Given the description of an element on the screen output the (x, y) to click on. 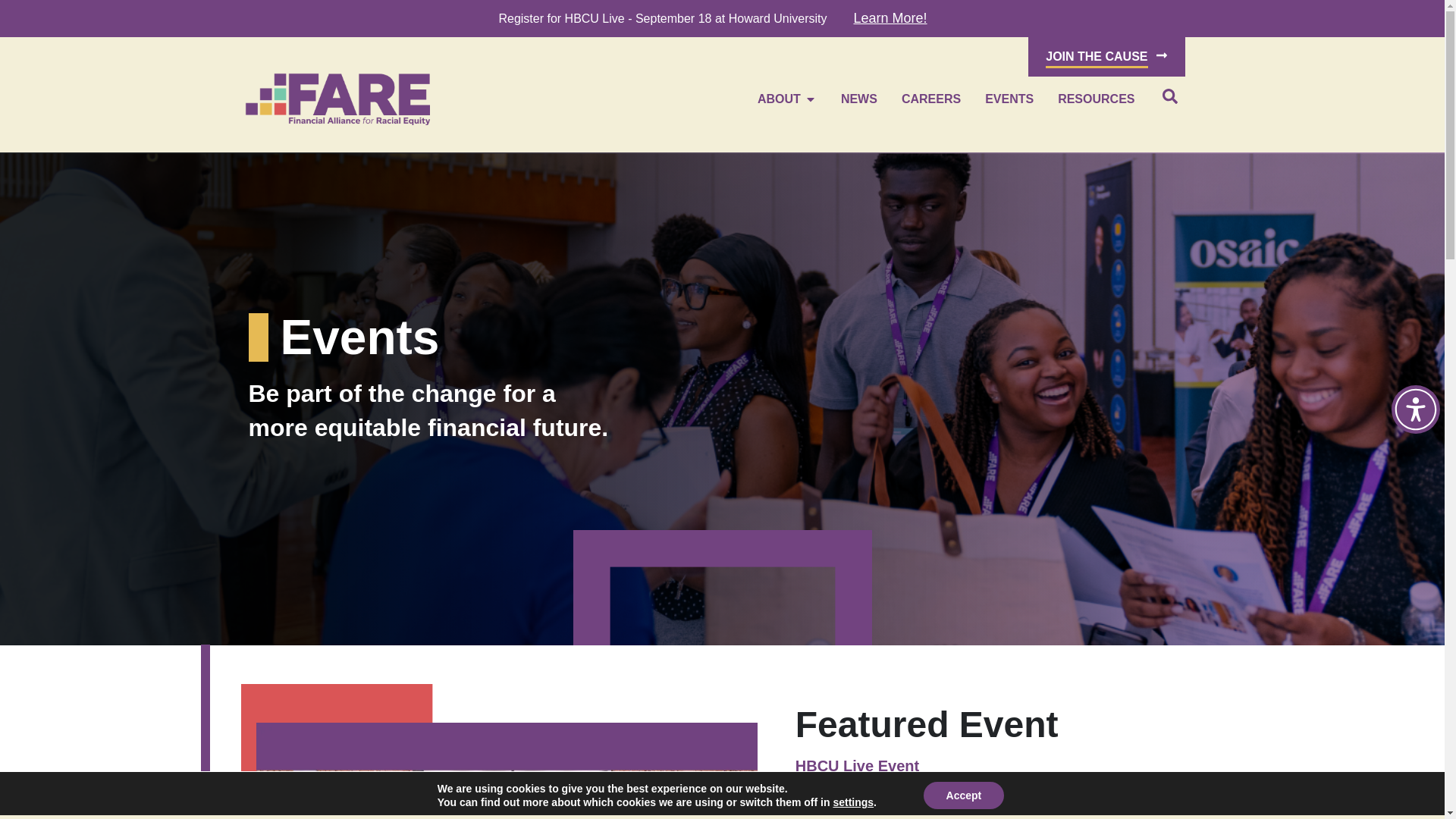
ABOUT (778, 99)
Learn More! (889, 17)
RESOURCES (1096, 99)
HBCU Live Event (856, 765)
NEWS (859, 99)
CAREERS (930, 99)
EVENTS (1009, 99)
Accessibility Menu (1415, 409)
JOIN THE CAUSE (1106, 56)
